Given the description of an element on the screen output the (x, y) to click on. 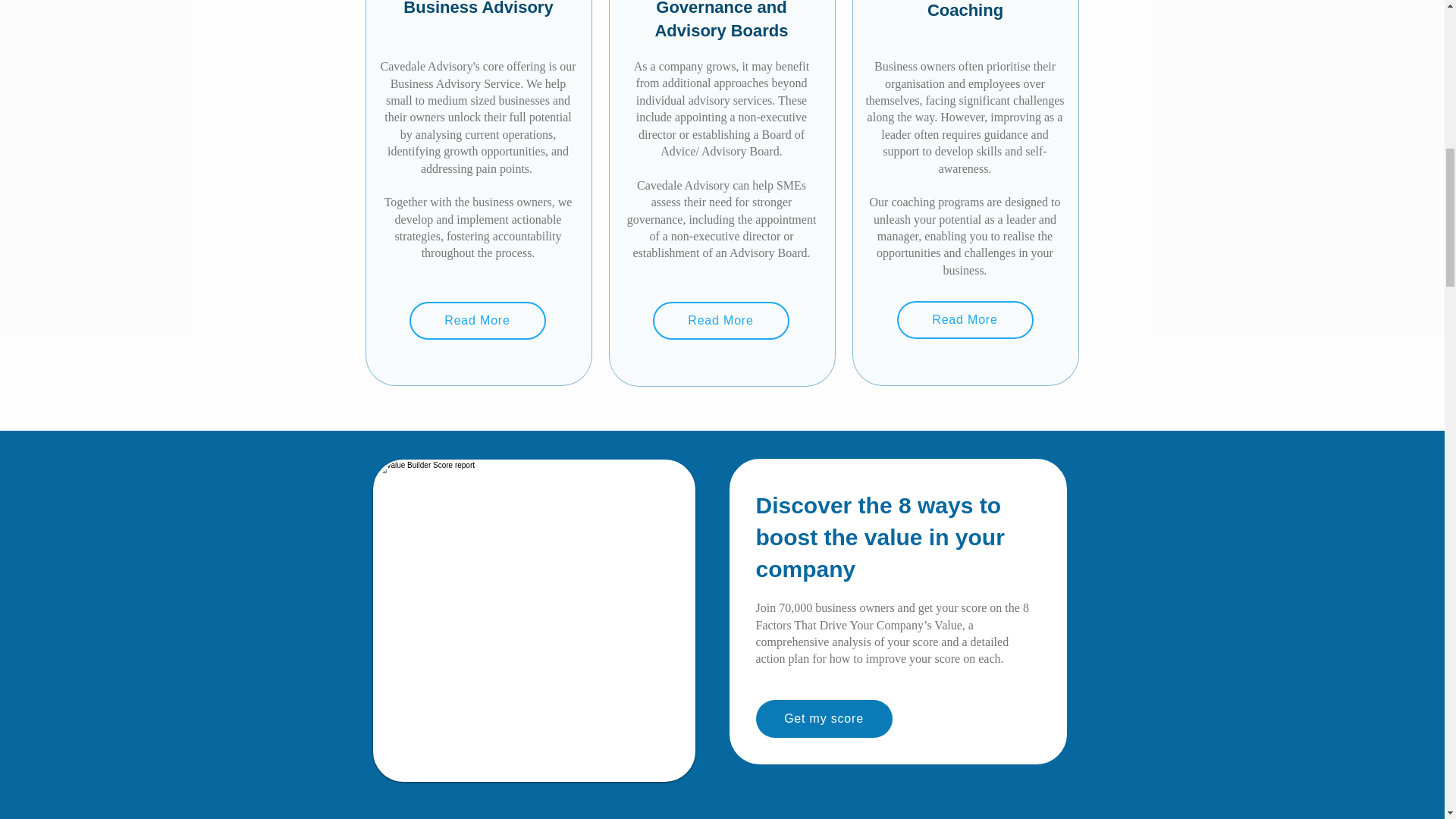
Read More (964, 320)
Get my score (823, 718)
Read More (720, 320)
Read More (477, 320)
